Given the description of an element on the screen output the (x, y) to click on. 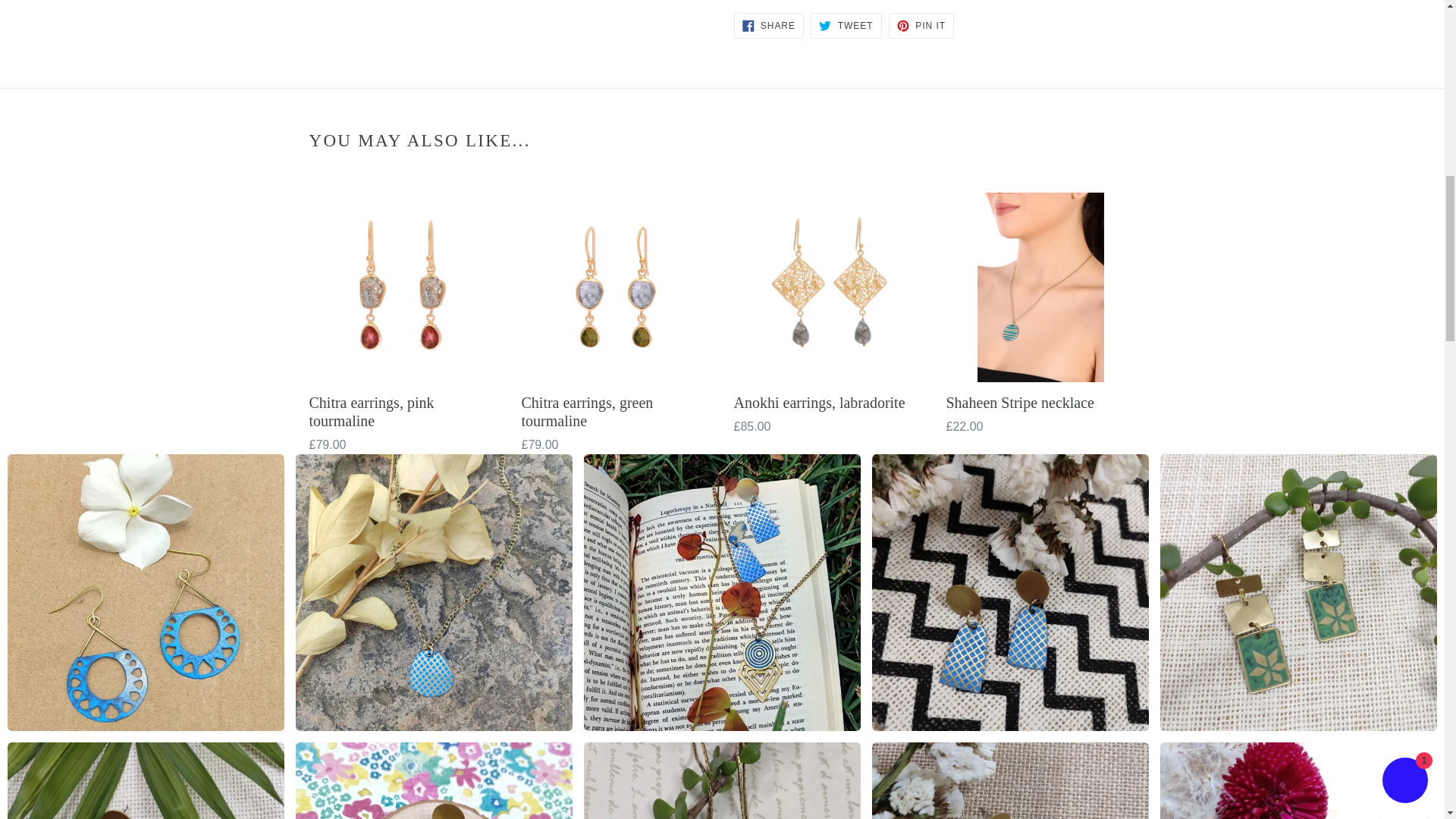
Tweet on Twitter (845, 25)
Pin on Pinterest (920, 25)
Share on Facebook (768, 25)
